Given the description of an element on the screen output the (x, y) to click on. 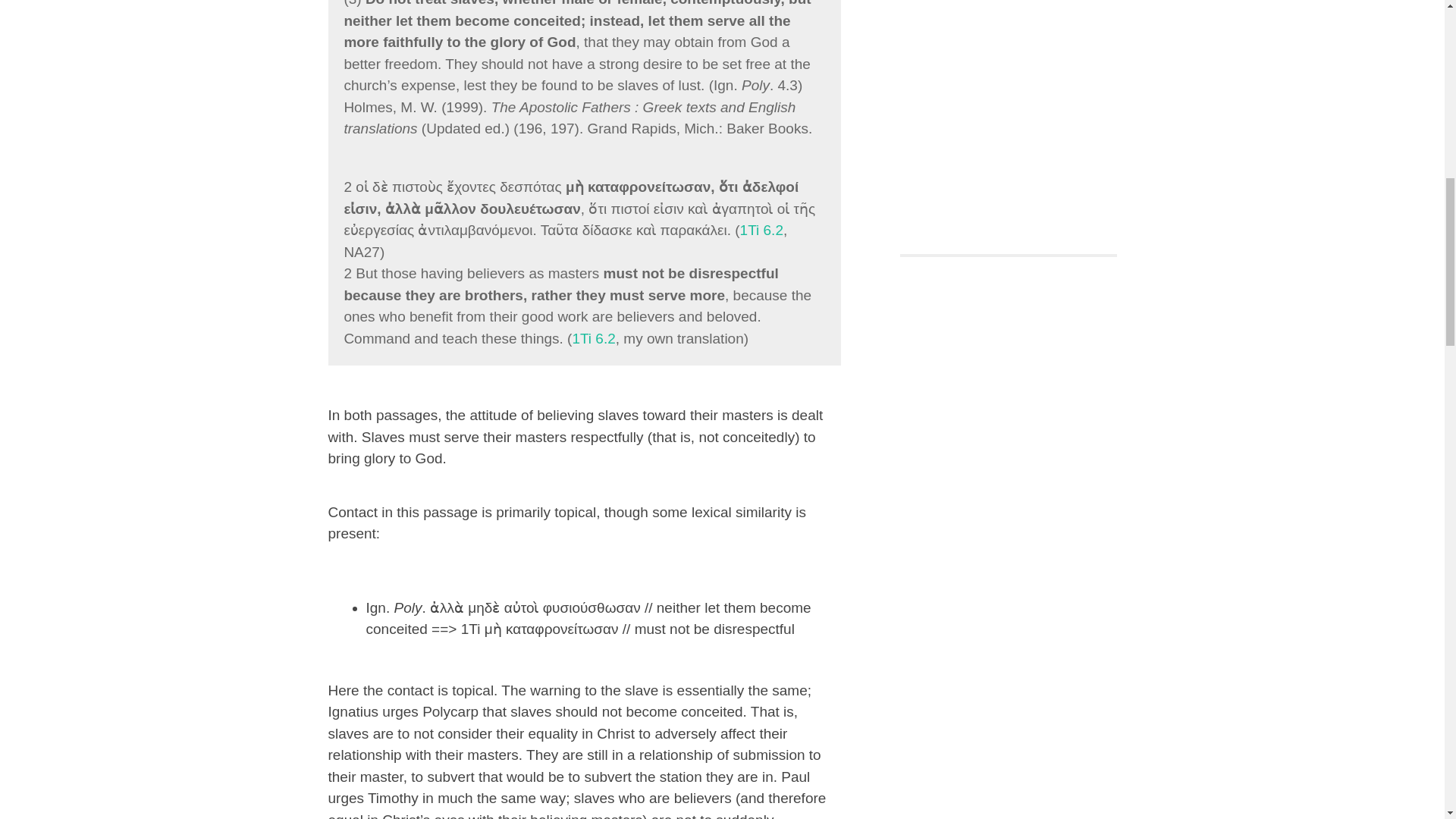
1Ti 6.2 (593, 338)
1Ti 6.2 (761, 229)
